Given the description of an element on the screen output the (x, y) to click on. 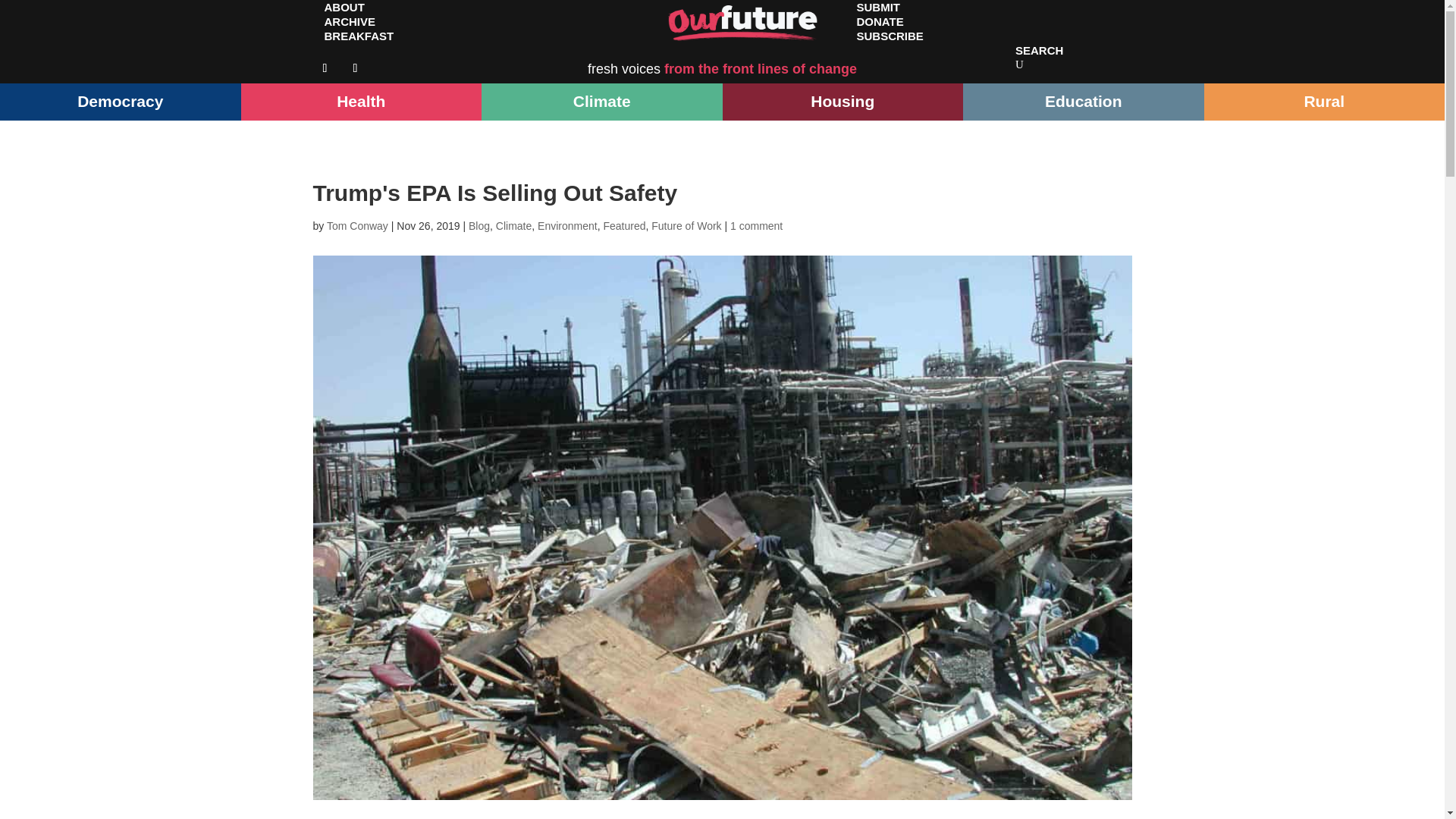
BREAKFAST (358, 35)
DONATE (879, 21)
1 comment (756, 225)
ABOUT (344, 13)
Blog (478, 225)
SUBSCRIBE (889, 35)
Follow on X (354, 68)
SEARCH (1039, 50)
Climate (513, 225)
Future of Work (685, 225)
